Given the description of an element on the screen output the (x, y) to click on. 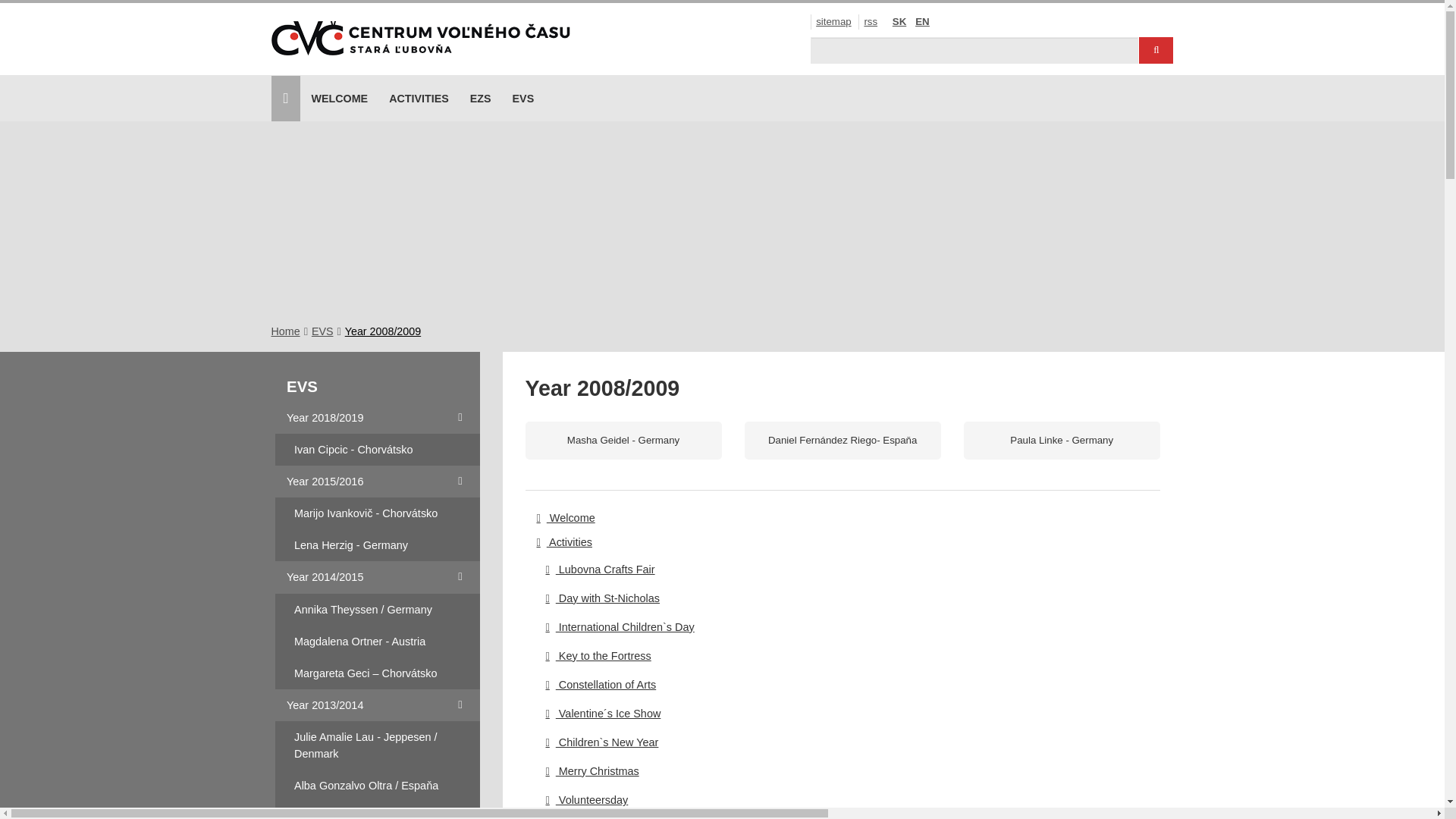
EN (921, 21)
Slovensky (898, 21)
WELCOME (338, 98)
Search (1155, 49)
SK (898, 21)
sitemap (833, 21)
rss (870, 21)
ACTIVITIES (419, 98)
English (921, 21)
